Given the description of an element on the screen output the (x, y) to click on. 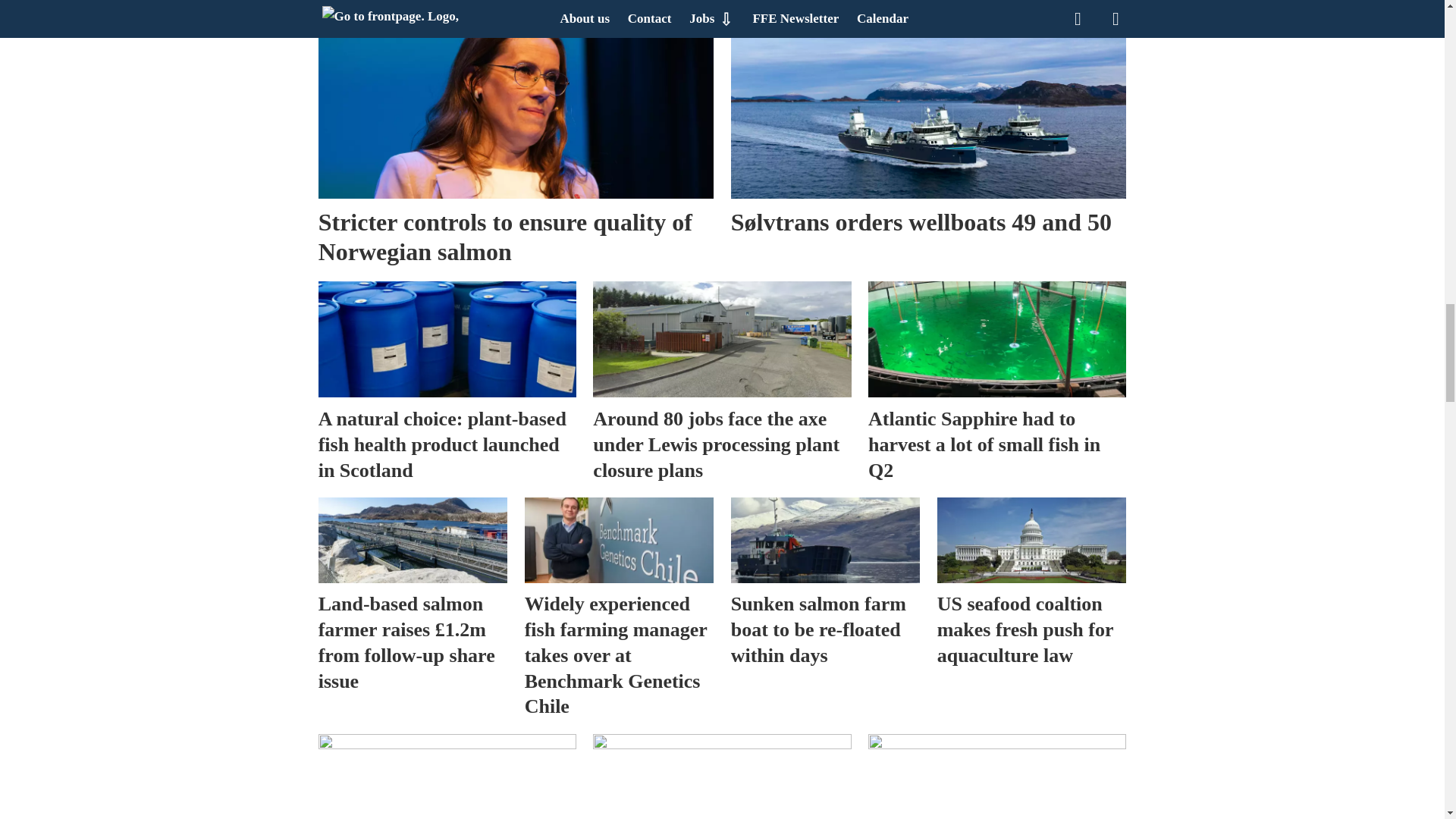
Stricter controls to ensure quality of Norwegian salmon (516, 109)
Atlantic Sapphire had to harvest a lot of small fish in Q2 (996, 339)
